Given the description of an element on the screen output the (x, y) to click on. 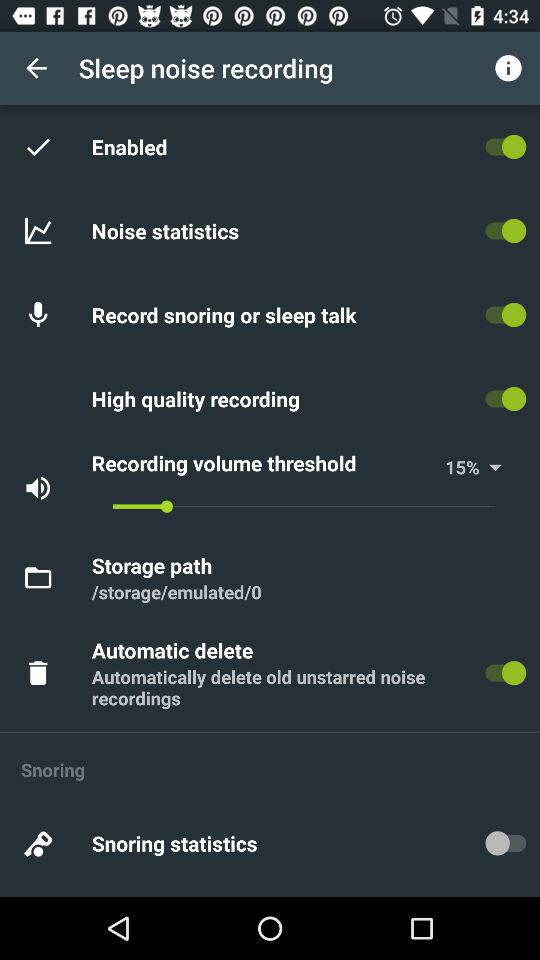
turn off the item below record snoring or (198, 398)
